Given the description of an element on the screen output the (x, y) to click on. 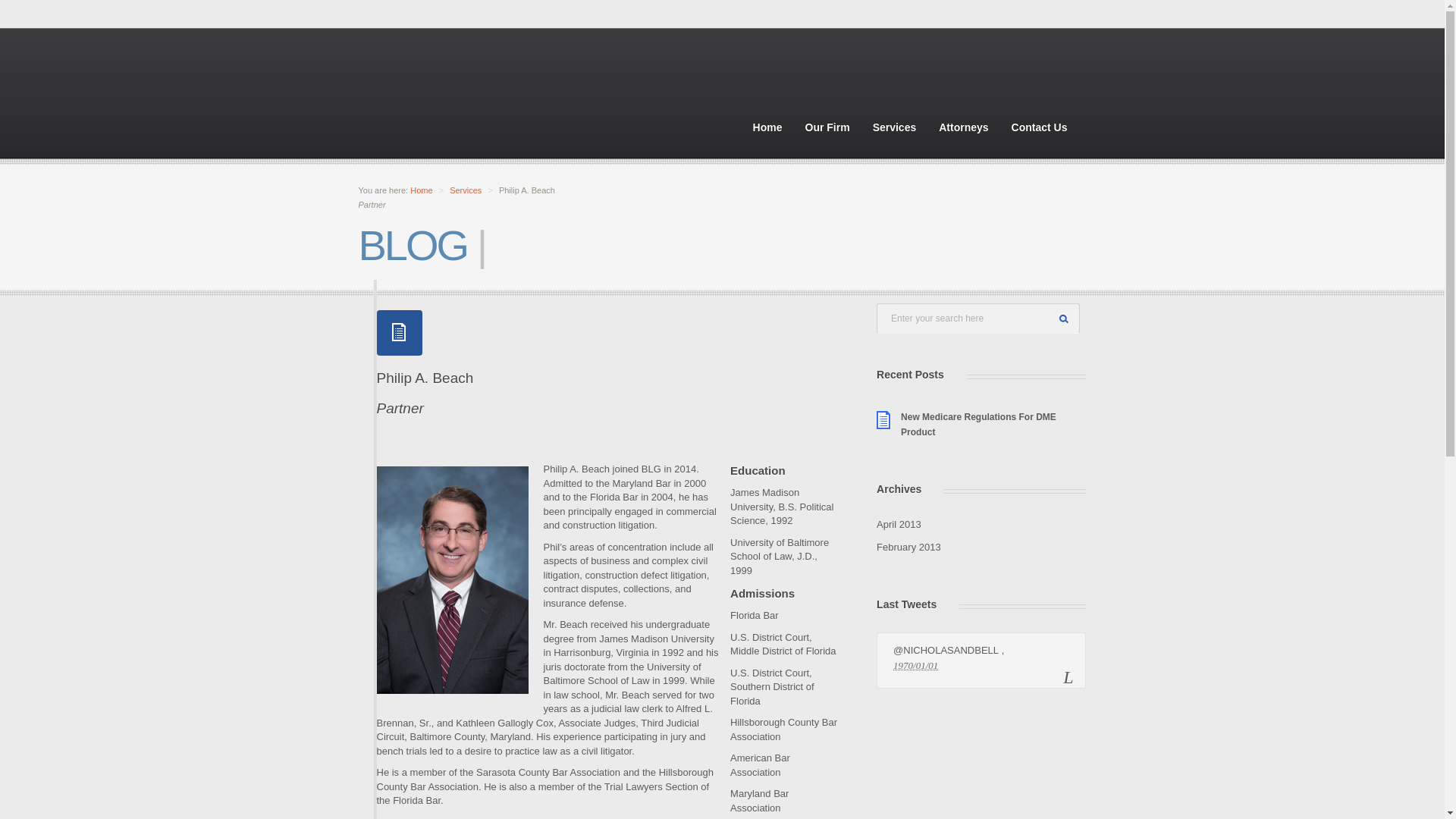
Services (465, 189)
Home (421, 189)
Attorneys (962, 127)
Services (894, 127)
Our Firm (826, 127)
February 2013 (908, 546)
Contact Us (1039, 127)
Enter your search here (978, 318)
Services (465, 189)
Home (424, 393)
Bell Law group (767, 127)
New Medicare Regulations For DME Product (458, 104)
April 2013 (979, 424)
